Given the description of an element on the screen output the (x, y) to click on. 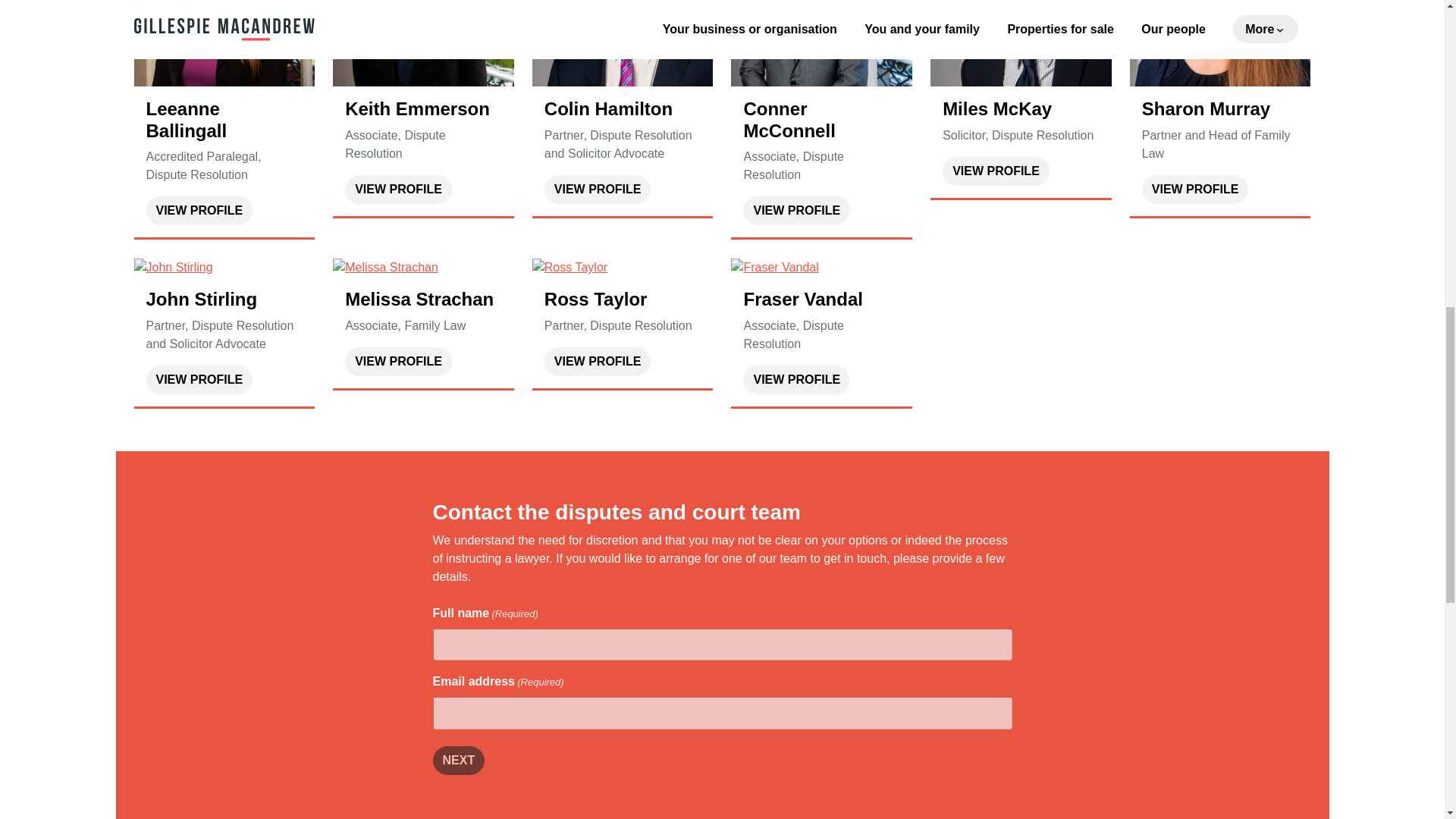
Next (458, 760)
